Given the description of an element on the screen output the (x, y) to click on. 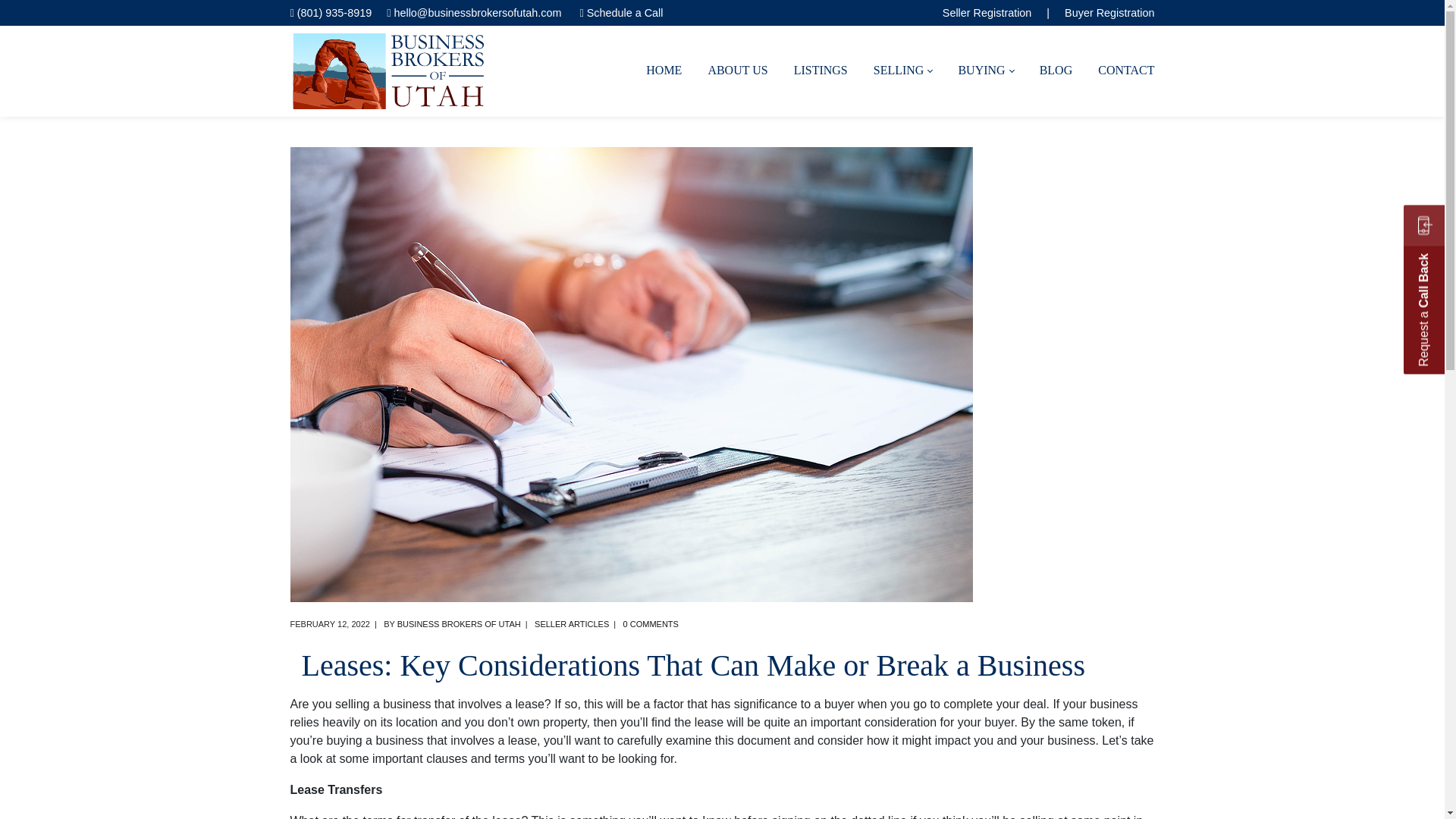
Schedule a Call (624, 12)
SELLING (903, 71)
LISTINGS (820, 71)
HOME (663, 71)
Buyer Registration (1109, 12)
ABOUT US (737, 71)
Seller Registration (987, 12)
CONTACT (1126, 71)
BUYING (985, 71)
BLOG (1055, 71)
